Given the description of an element on the screen output the (x, y) to click on. 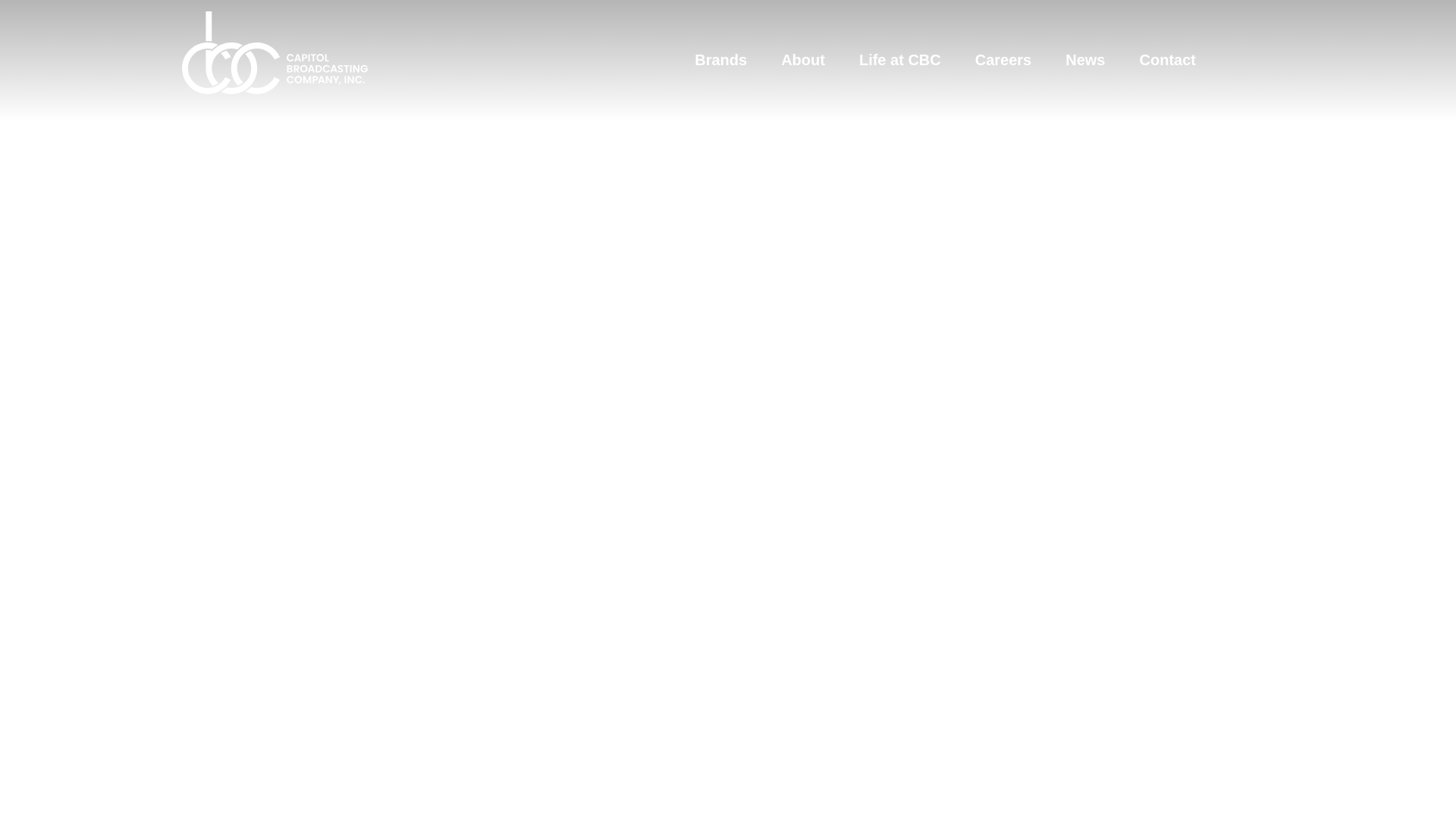
News (1085, 59)
Careers (1003, 59)
About (802, 59)
Brands (720, 59)
Contact (1166, 59)
Life at CBC (899, 59)
